Given the description of an element on the screen output the (x, y) to click on. 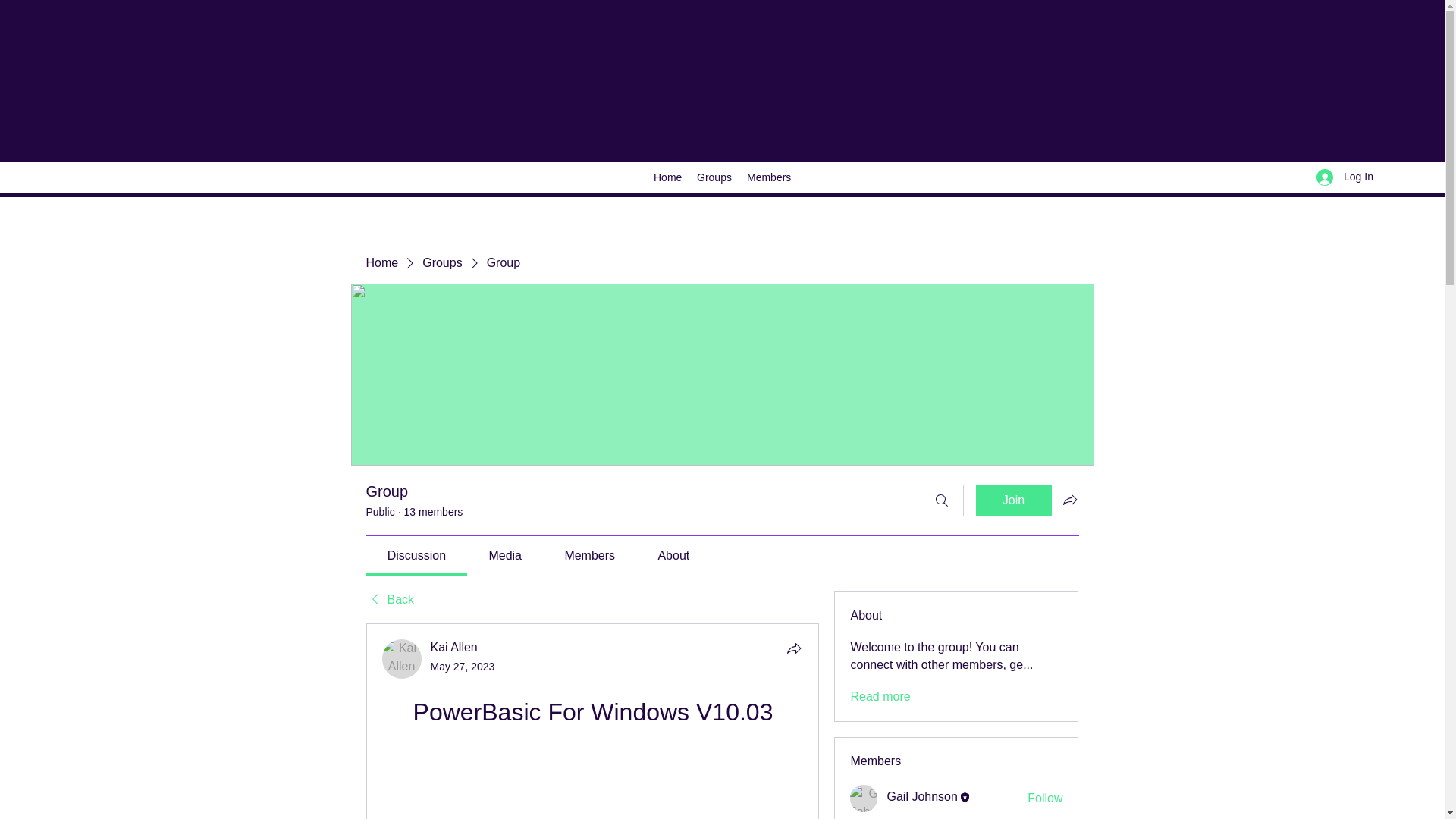
Read more (880, 696)
Home (667, 177)
May 27, 2023 (462, 666)
Groups (441, 262)
Home (381, 262)
Members (768, 177)
Back (389, 599)
Gail Johnson (921, 796)
Kai Allen (401, 658)
Follow (1044, 798)
Join (1013, 500)
Groups (713, 177)
Log In (1345, 176)
Kai Allen (453, 646)
Gail Johnson (863, 798)
